Given the description of an element on the screen output the (x, y) to click on. 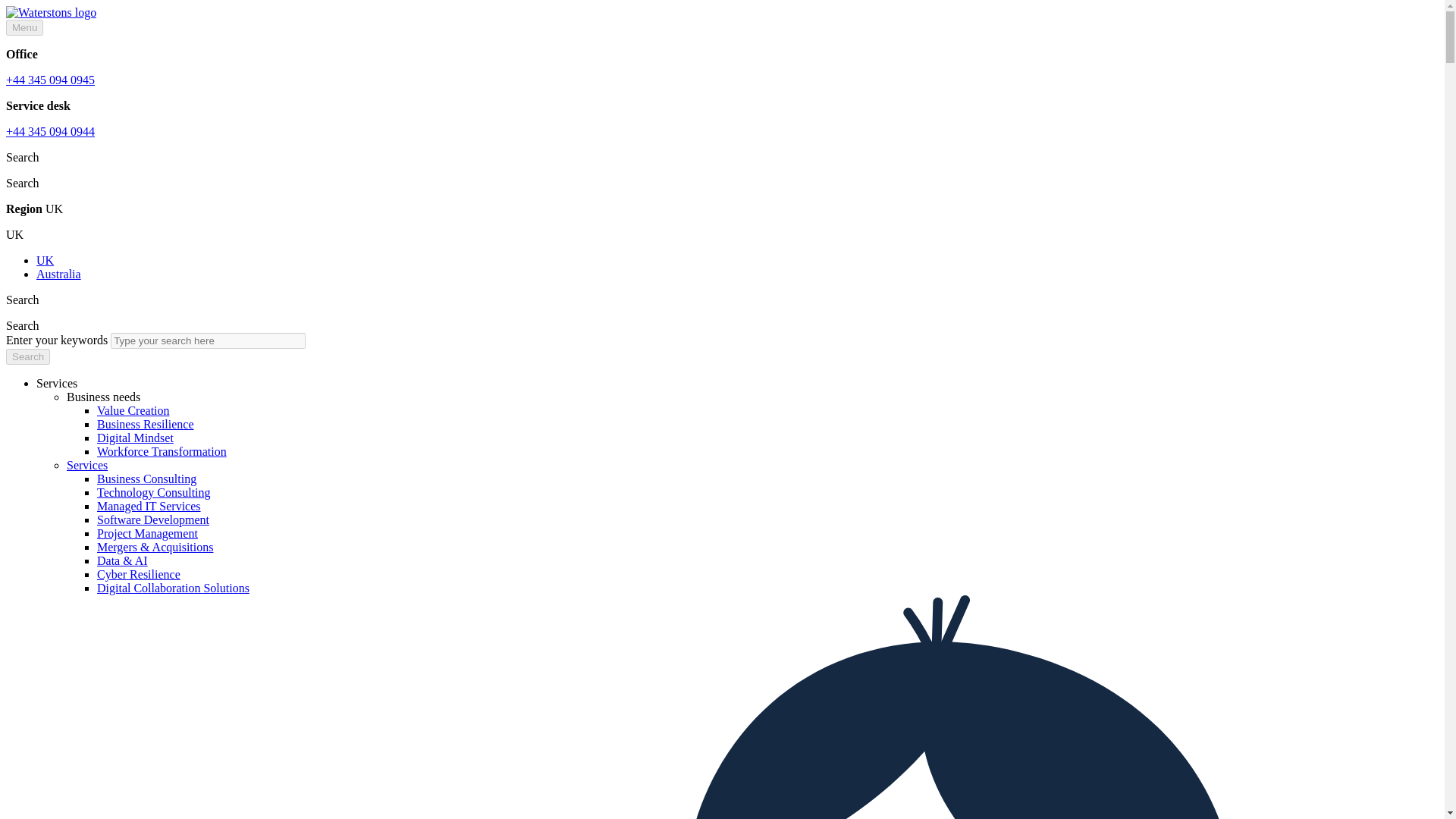
Menu (24, 27)
Services (86, 464)
Business Resilience (145, 423)
Technology Consulting (154, 492)
Managed IT Services (148, 505)
Digital Collaboration Solutions (172, 587)
Workforce Transformation (162, 451)
Technology Consulting (154, 492)
Services (86, 464)
UK (44, 259)
